Given the description of an element on the screen output the (x, y) to click on. 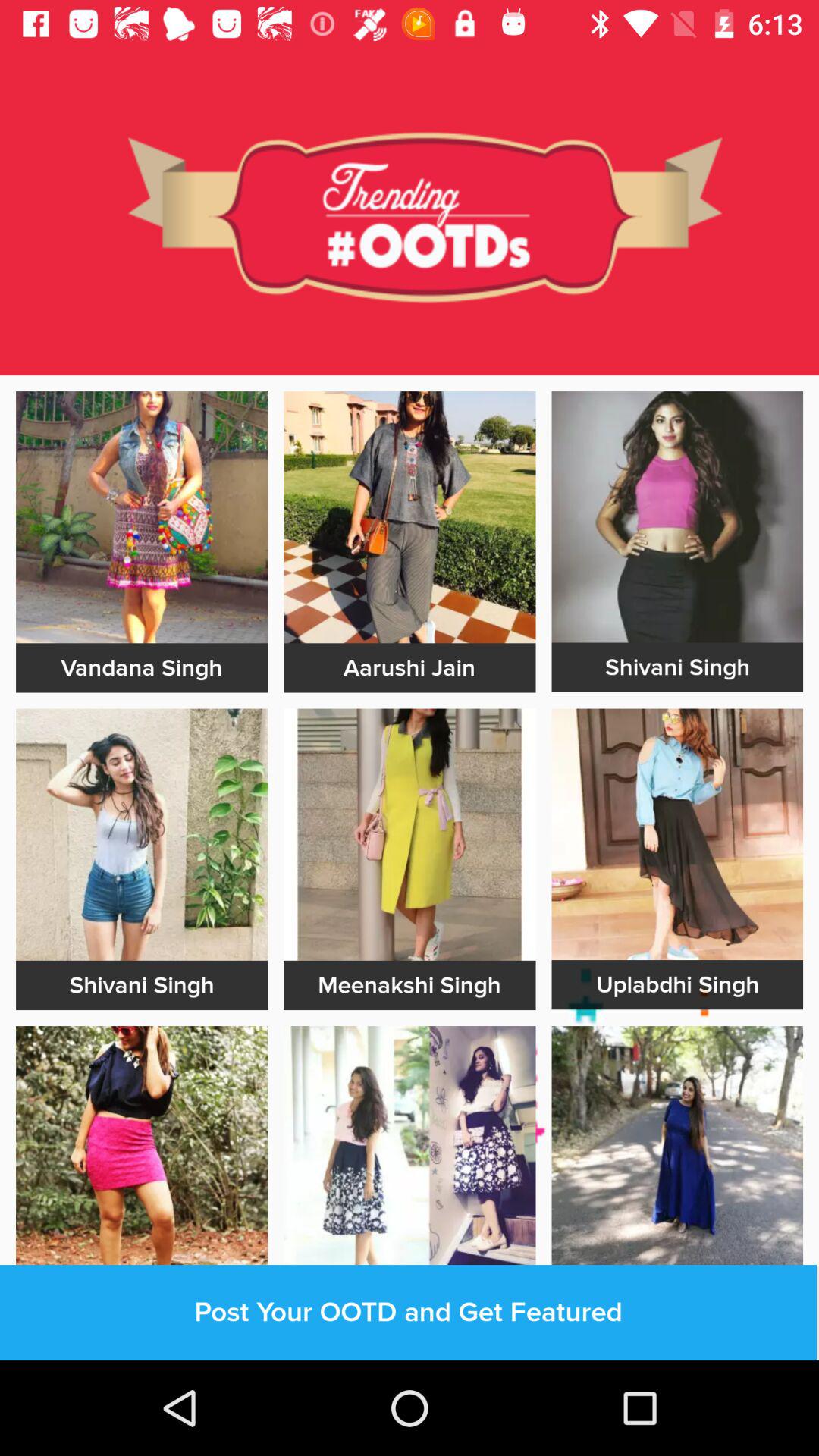
image selection (141, 1151)
